Given the description of an element on the screen output the (x, y) to click on. 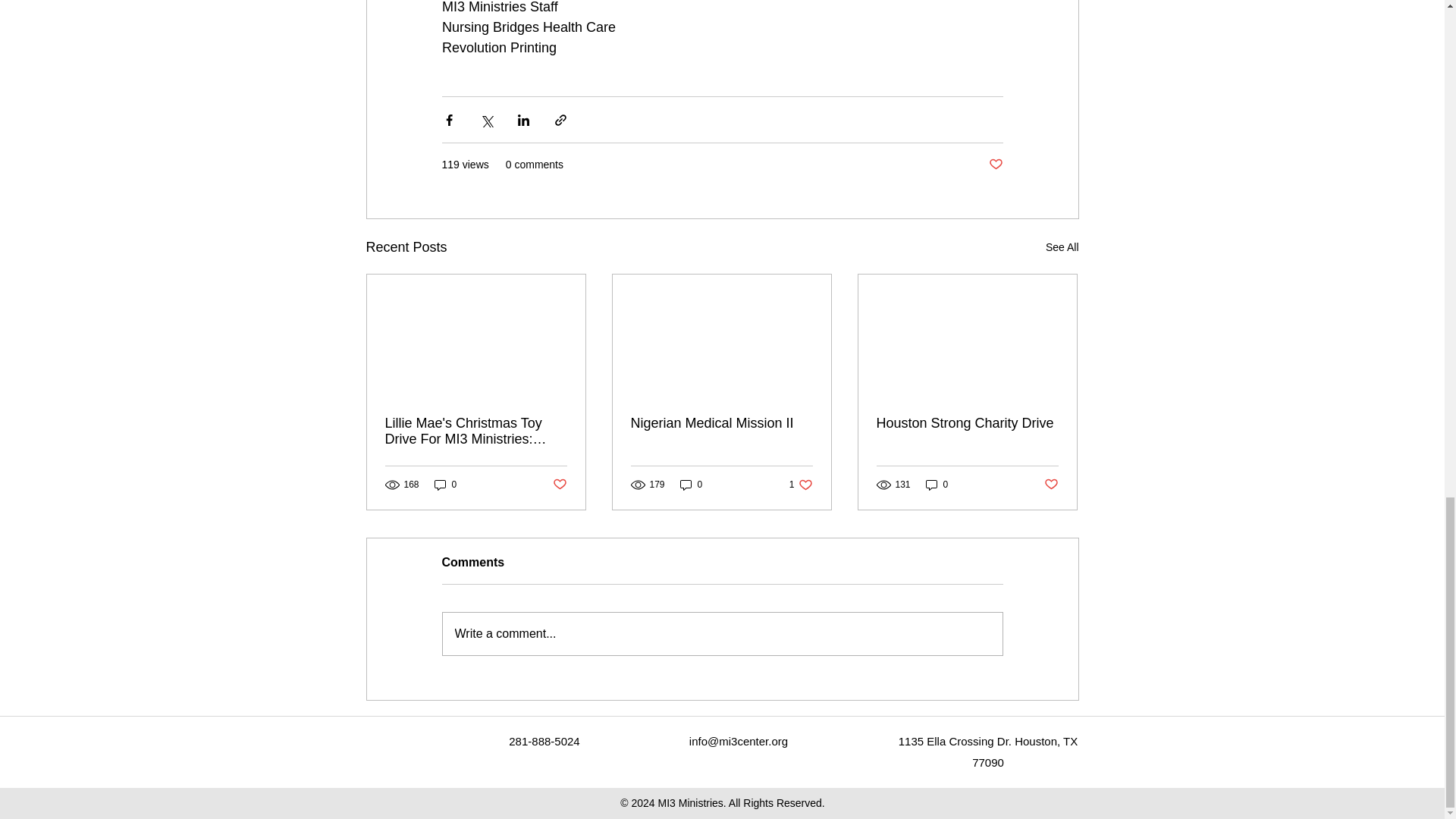
Post not marked as liked (1050, 484)
1135 Ella Crossing Dr. Houston, TX 77090 (988, 751)
Post not marked as liked (558, 484)
See All (1061, 247)
281-888-5024 (543, 740)
Post not marked as liked (995, 164)
Write a comment... (722, 633)
Nigerian Medical Mission II (721, 423)
0 (691, 483)
0 (937, 483)
0 (800, 483)
Houston Strong Charity Drive (445, 483)
